Given the description of an element on the screen output the (x, y) to click on. 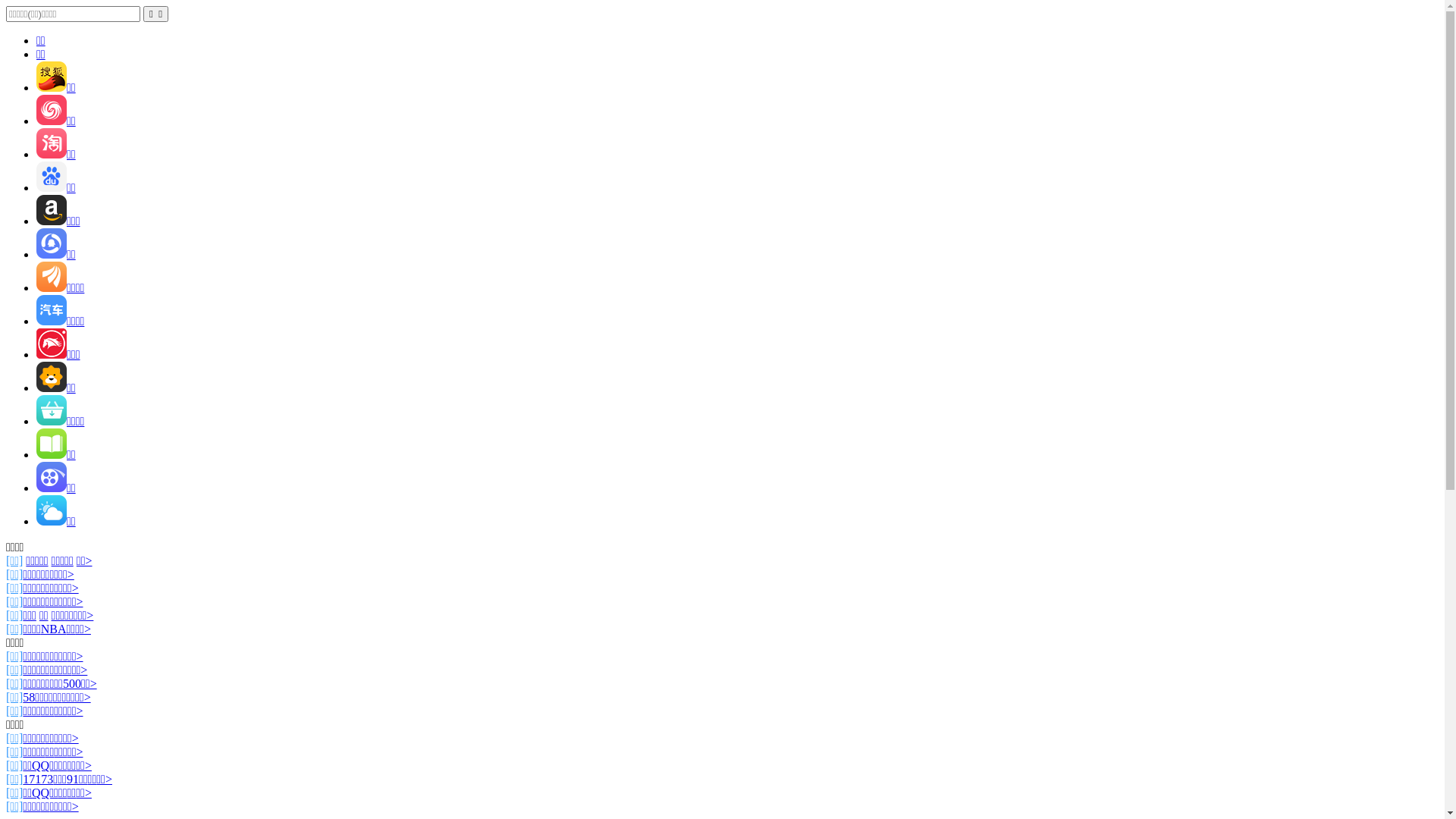
500 Element type: text (71, 683)
17173 Element type: text (37, 778)
NBA Element type: text (53, 628)
